Given the description of an element on the screen output the (x, y) to click on. 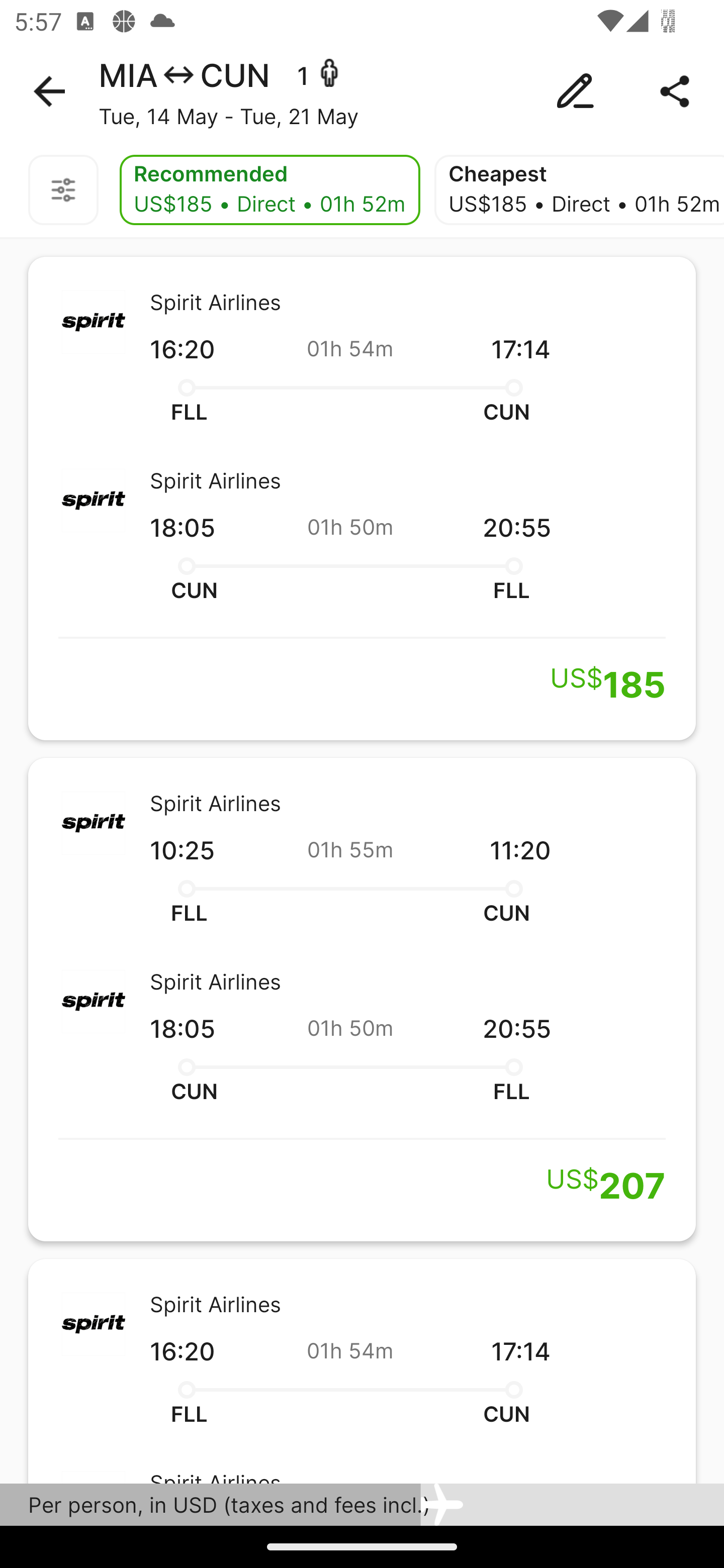
MIA CUN   1 - Tue, 14 May - Tue, 21 May (361, 91)
Recommended  US$185 • Direct • 01h 52m (269, 190)
Cheapest US$185 • Direct • 01h 52m (579, 190)
